Given the description of an element on the screen output the (x, y) to click on. 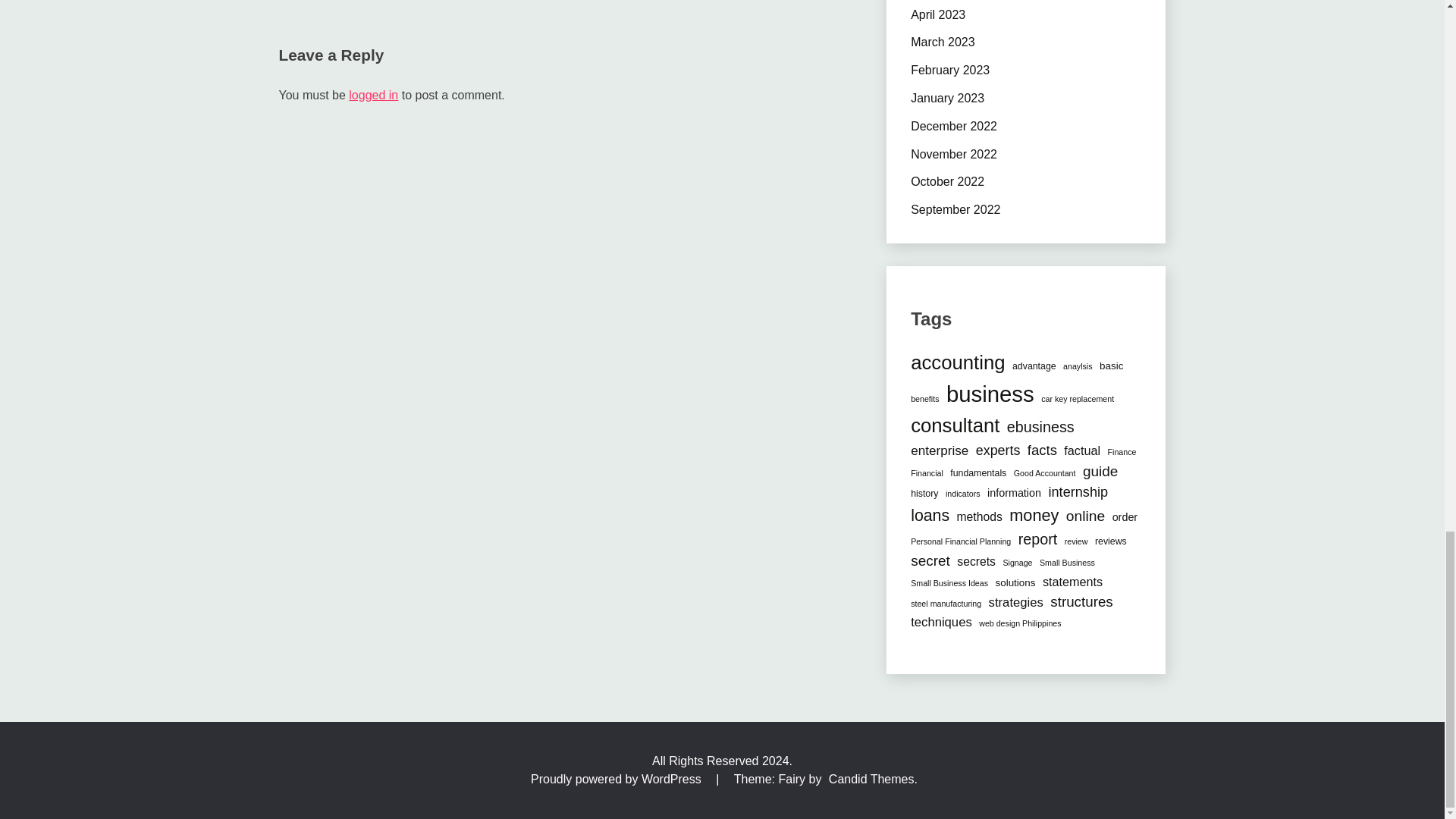
logged in (373, 94)
